Given the description of an element on the screen output the (x, y) to click on. 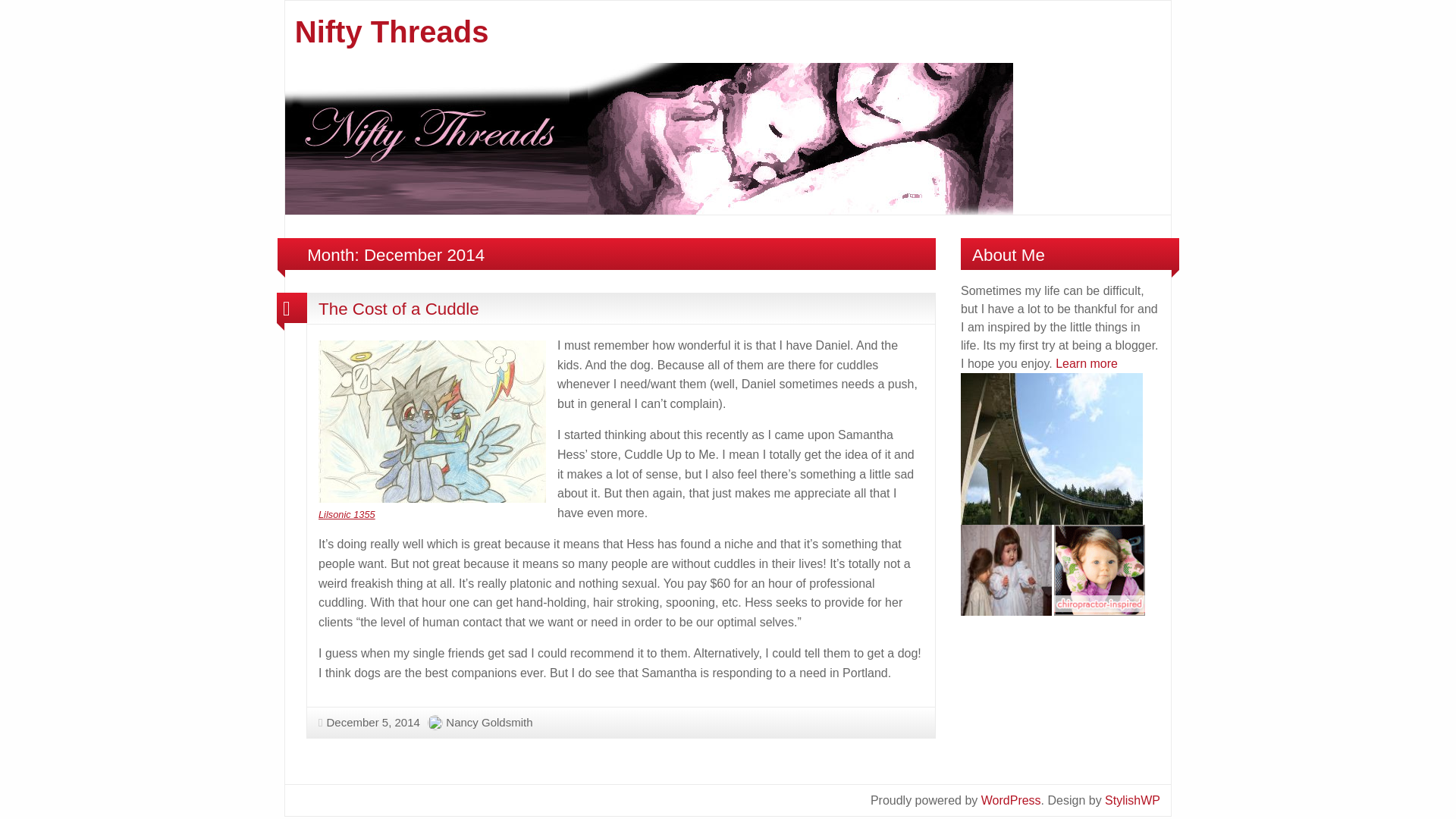
December 5, 2014 (369, 721)
StylishWP (1132, 799)
The Cost of a Cuddle (398, 308)
Learn more (1086, 363)
WordPress (1011, 799)
Nifty Threads (392, 31)
Nifty Threads (649, 137)
Nancy Goldsmith (488, 721)
Lilsonic 1355 (346, 514)
BlogoLife (1132, 799)
